Given the description of an element on the screen output the (x, y) to click on. 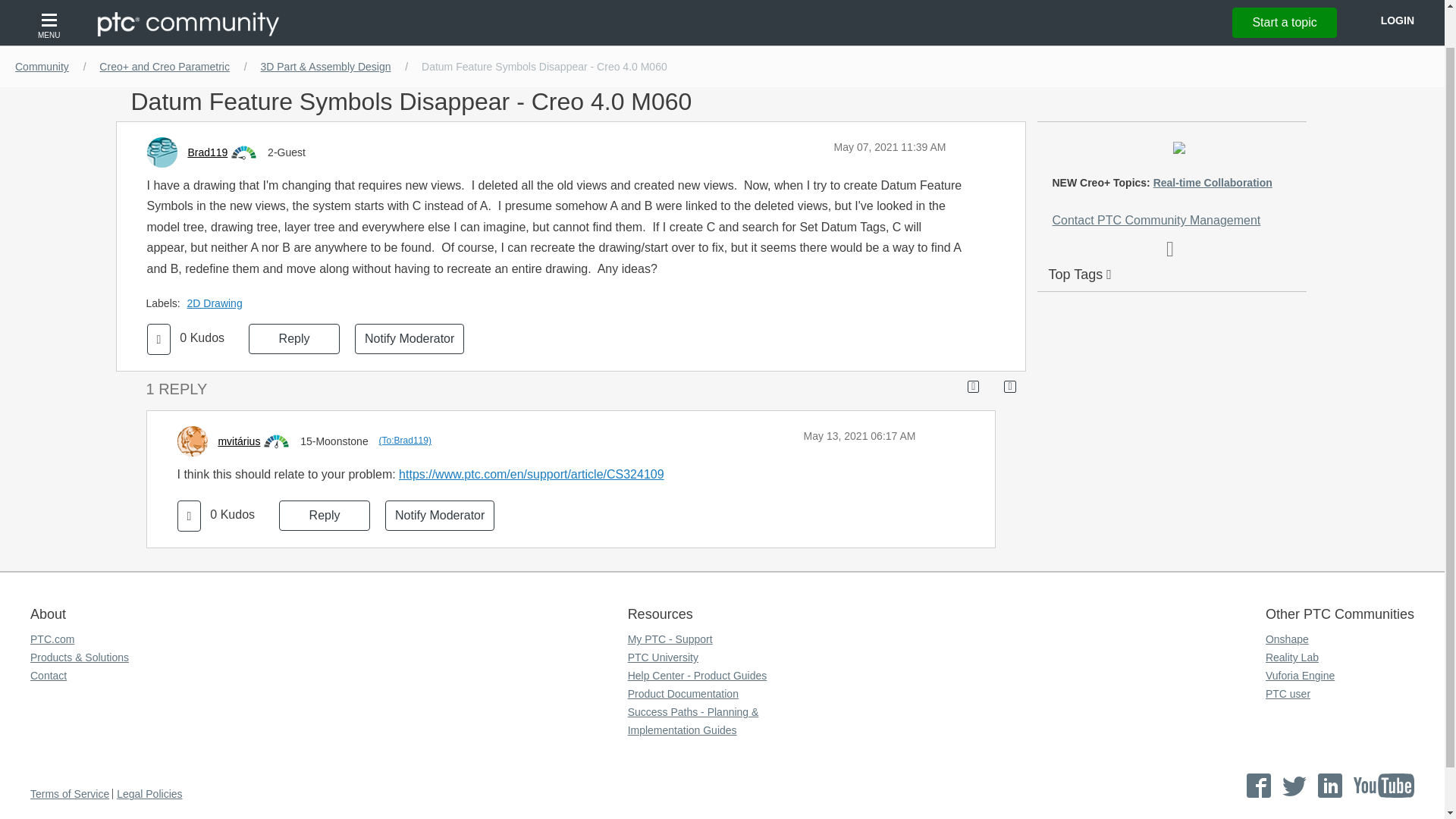
Brad119 (207, 152)
2D Drawing (218, 303)
Reply (293, 338)
Community (42, 66)
Notify Moderator (409, 338)
PTC Community Announcements (978, 24)
